Given the description of an element on the screen output the (x, y) to click on. 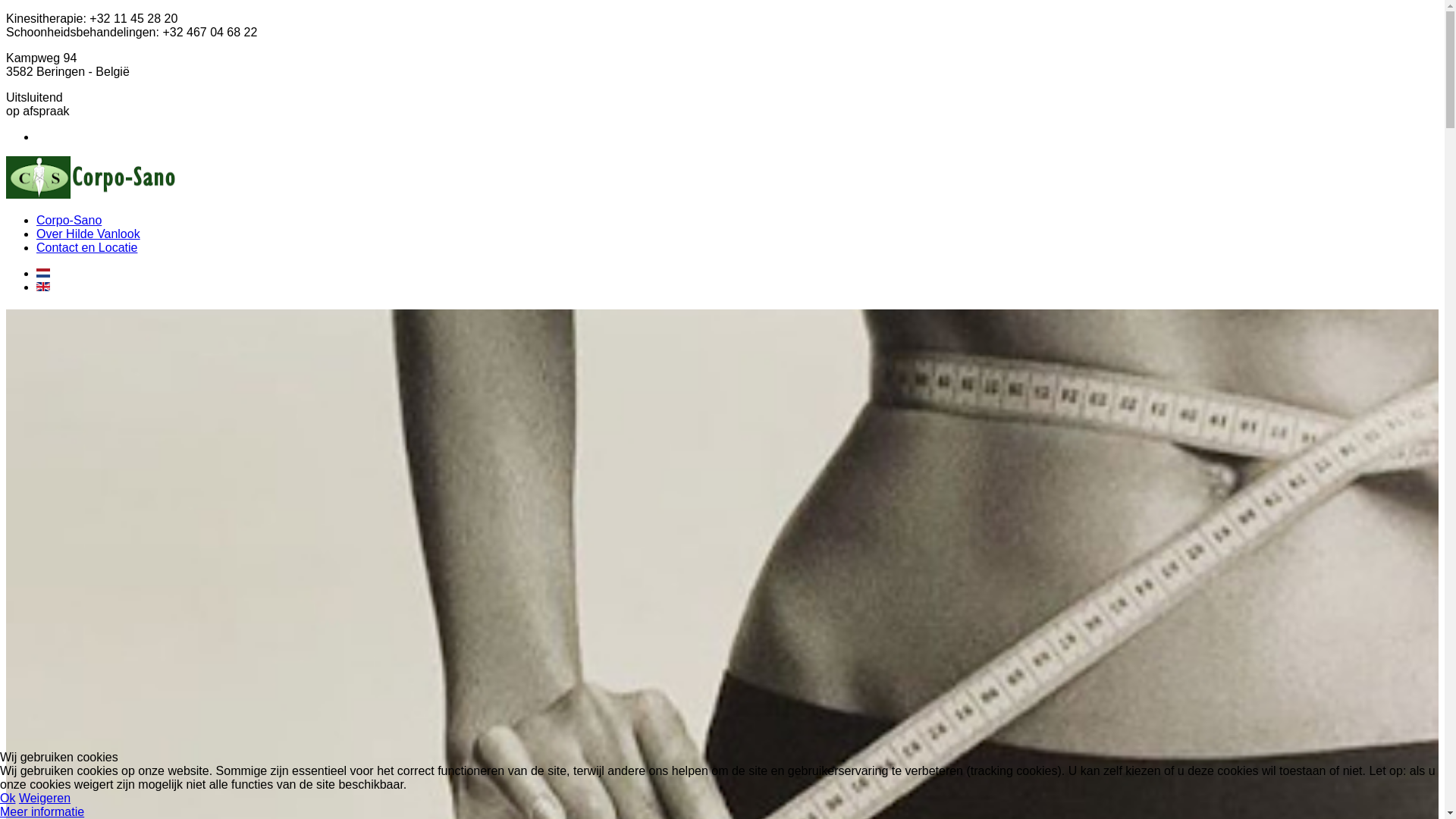
Corpo-Sano Element type: text (68, 219)
Over Hilde Vanlook Element type: text (88, 233)
Ok Element type: text (7, 797)
Nederlands Element type: hover (43, 272)
Meer informatie Element type: text (42, 811)
Weigeren Element type: text (44, 797)
English (UK) Element type: hover (43, 286)
Contact en Locatie Element type: text (86, 247)
